Given the description of an element on the screen output the (x, y) to click on. 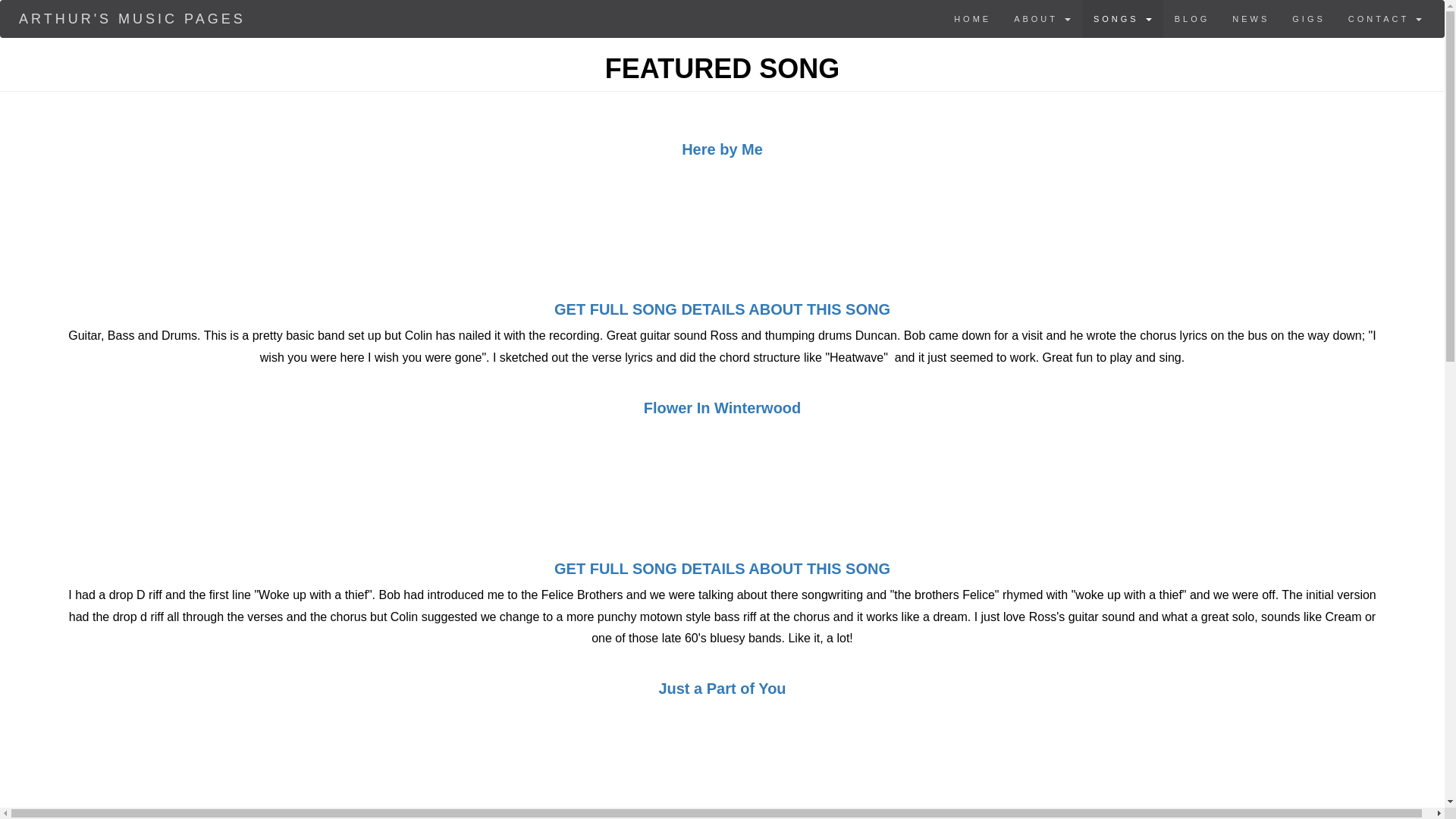
Here by Me (721, 149)
HOME (972, 18)
Details about the Factory of Songs (1042, 18)
CONTACT (1384, 18)
Get in contact with the Scattered Notes (1384, 18)
Just a Part of You (722, 688)
Flower In Winterwood (722, 407)
NEWS (1251, 18)
Home (132, 18)
